Given the description of an element on the screen output the (x, y) to click on. 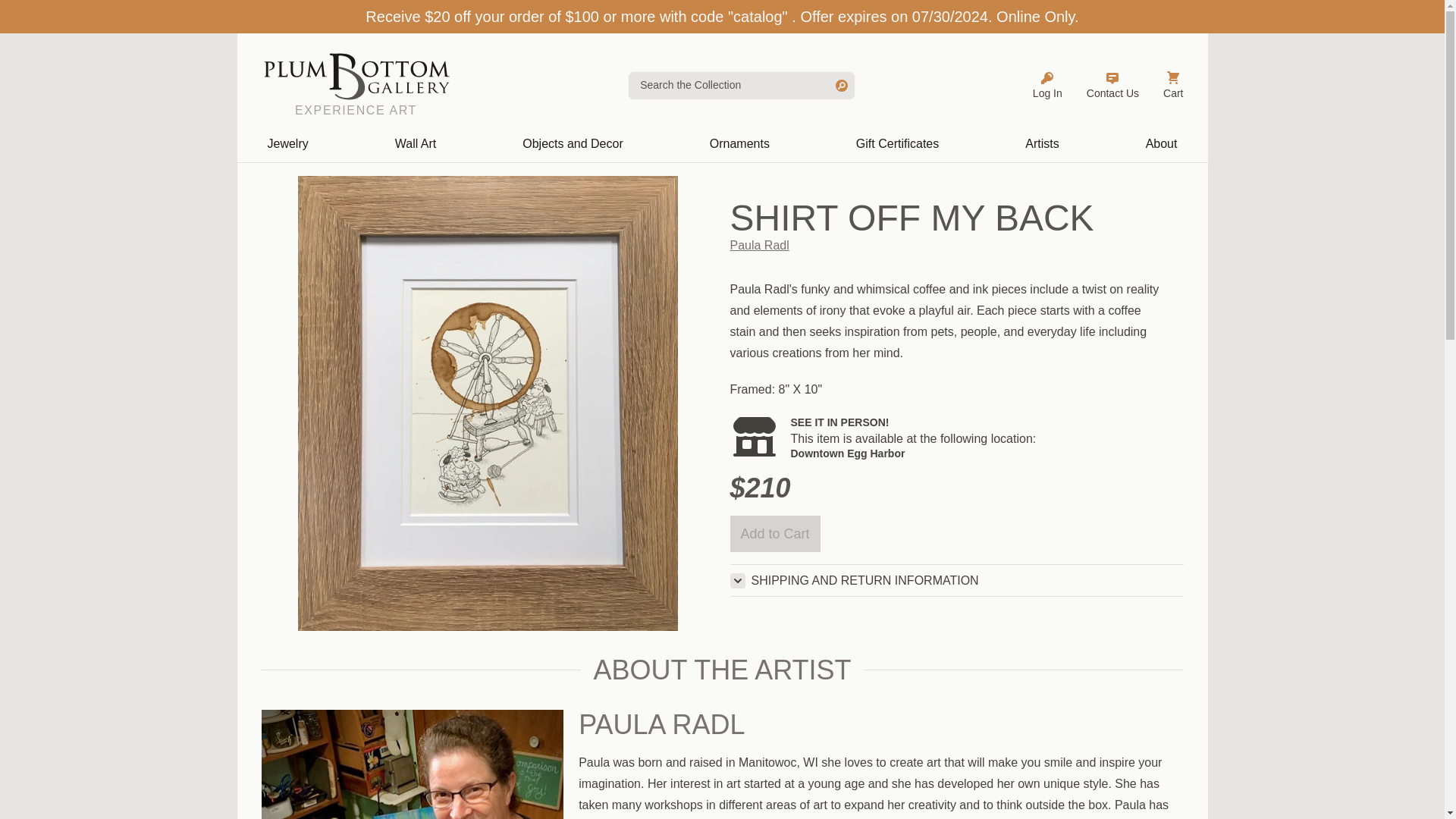
Contact Us (1112, 85)
Wall Art (415, 144)
EXPERIENCE ART (354, 85)
Artists (1041, 144)
Ornaments (739, 144)
Objects and Decor (572, 144)
Gift Certificates (897, 144)
Jewelry (287, 144)
Log In (1047, 85)
About (1161, 144)
